Given the description of an element on the screen output the (x, y) to click on. 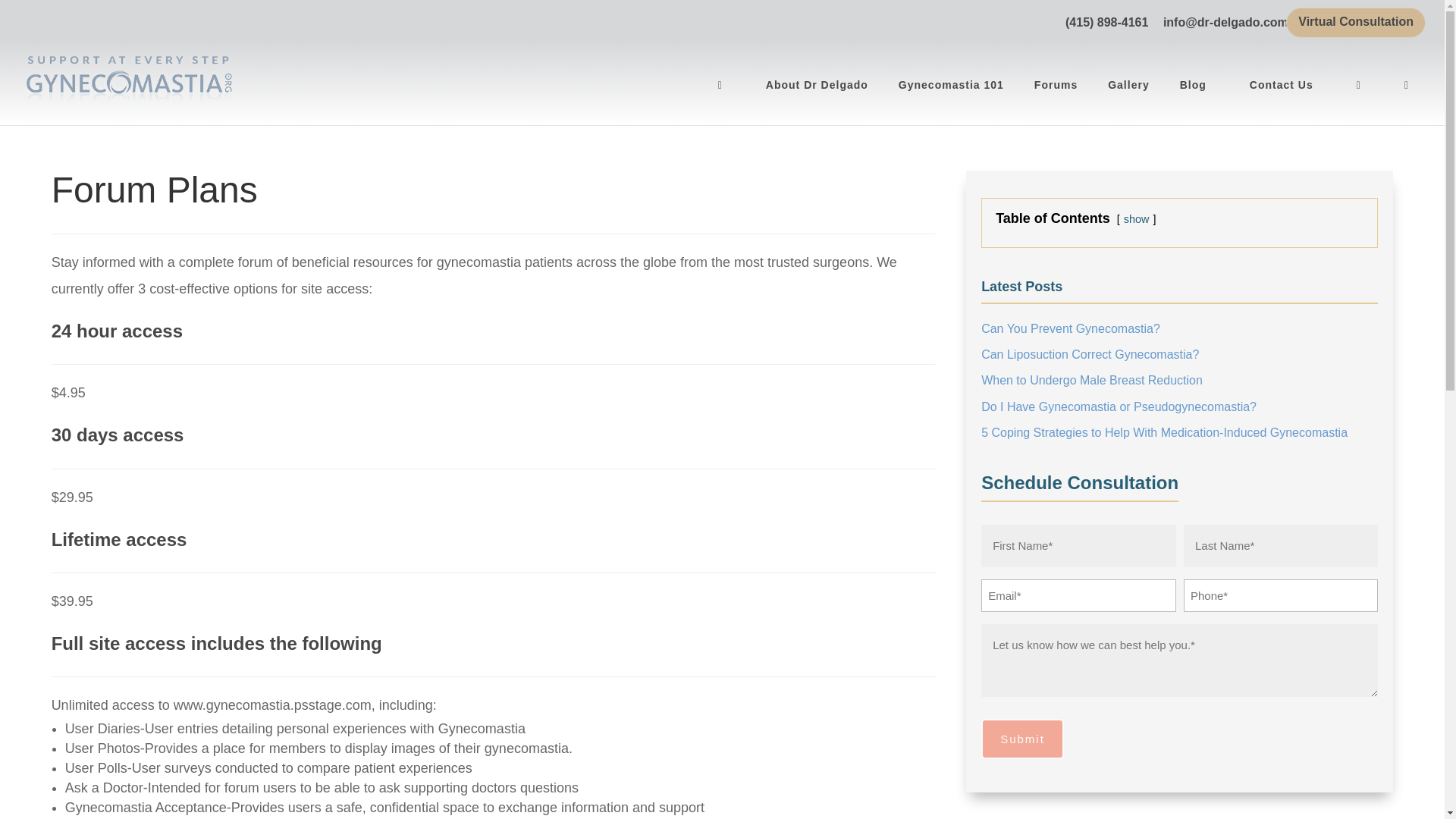
Submit (1022, 739)
About Dr Delgado (818, 98)
Forums (1058, 98)
Virtual Consultation (1355, 25)
Gynecomastia 101 (952, 98)
